Given the description of an element on the screen output the (x, y) to click on. 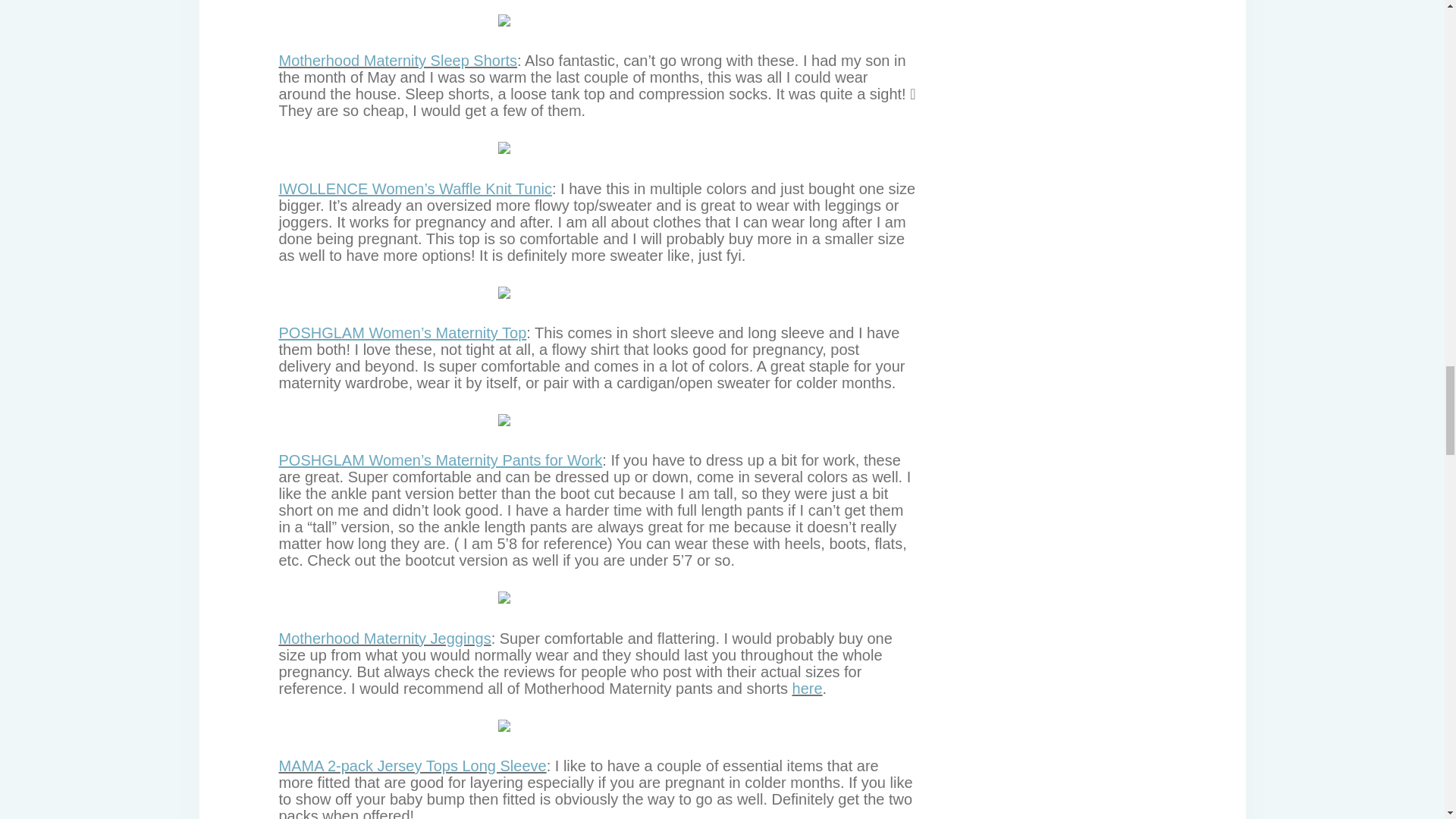
Motherhood Maternity Jeggings (385, 638)
Motherhood Maternity Sleep Shorts (398, 60)
